Given the description of an element on the screen output the (x, y) to click on. 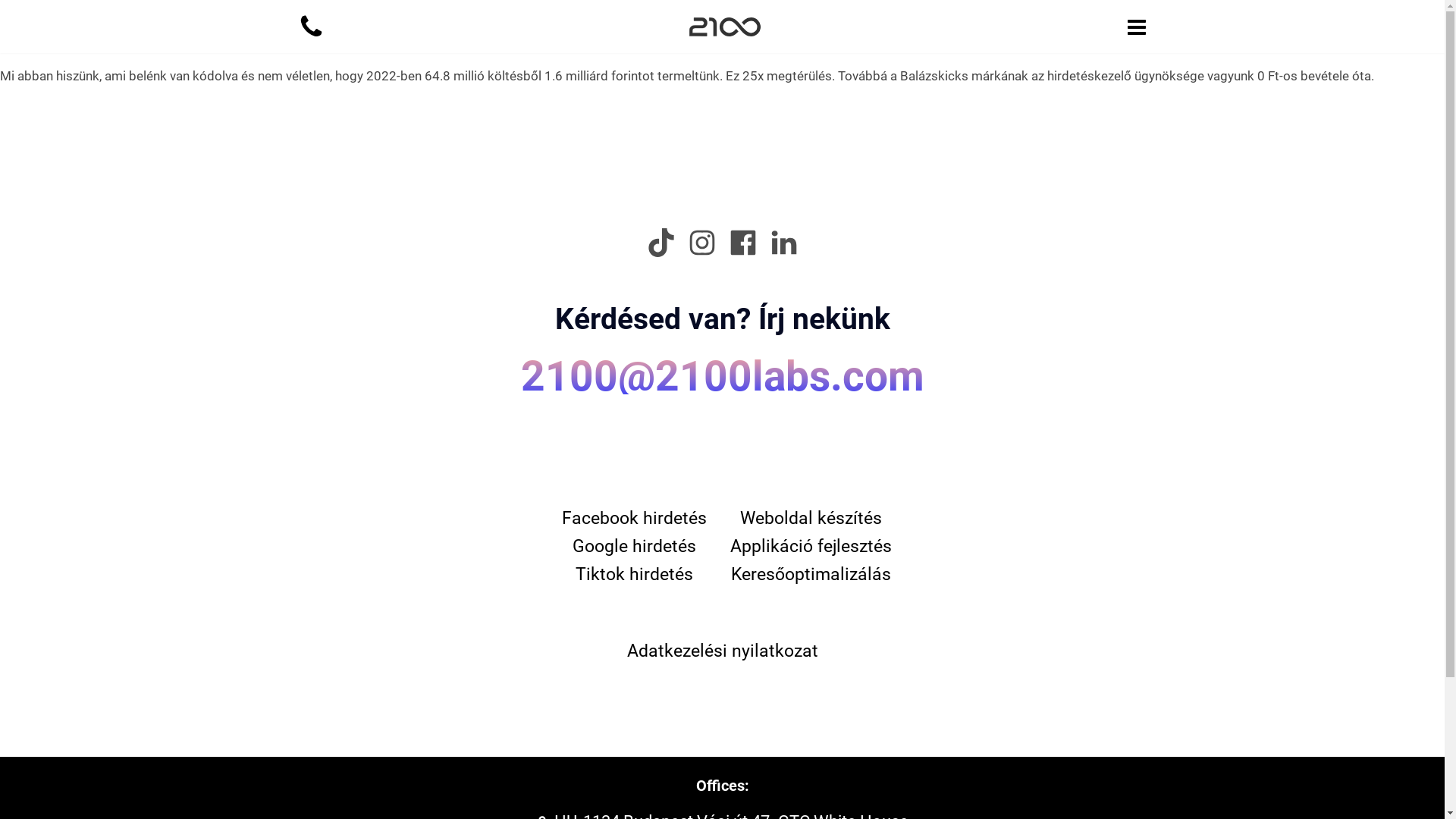
2100@2100labs.com Element type: text (721, 412)
